Given the description of an element on the screen output the (x, y) to click on. 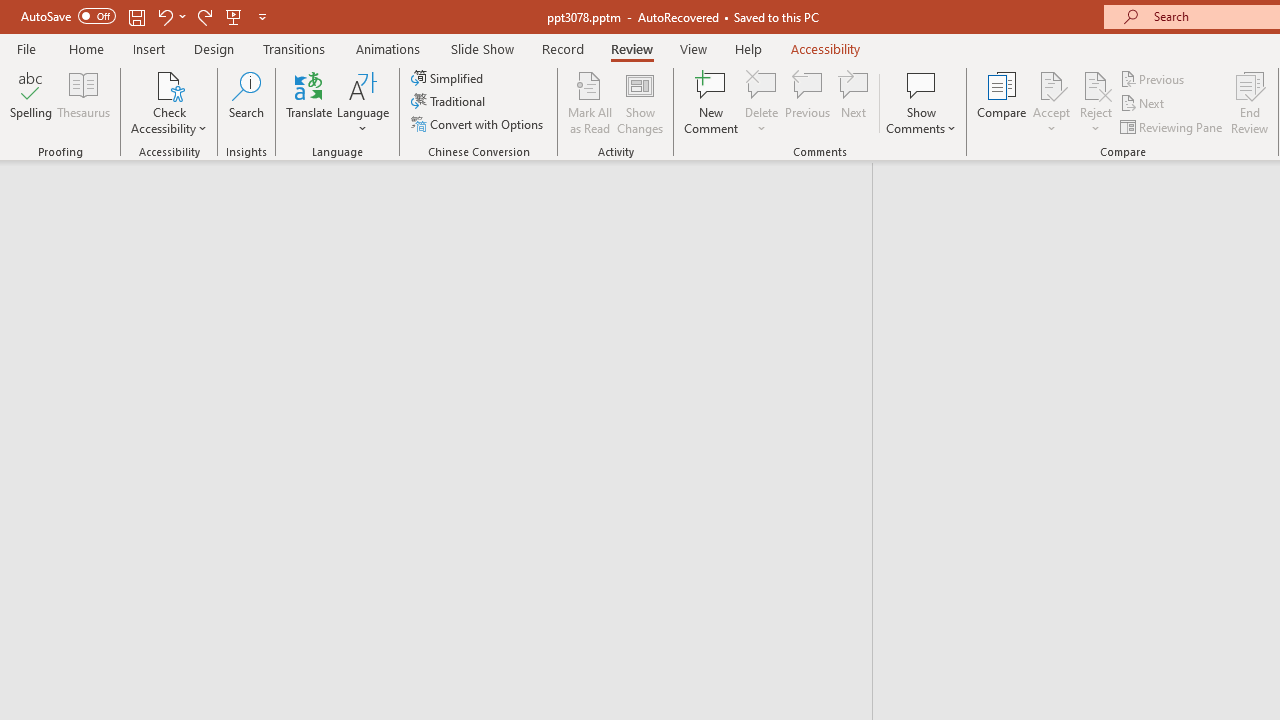
End Review (1249, 102)
Check Accessibility (169, 84)
Reviewing Pane (1172, 126)
Accept Change (1051, 84)
Delete (762, 84)
Reject Change (1096, 84)
Simplified (449, 78)
Search (246, 102)
